Given the description of an element on the screen output the (x, y) to click on. 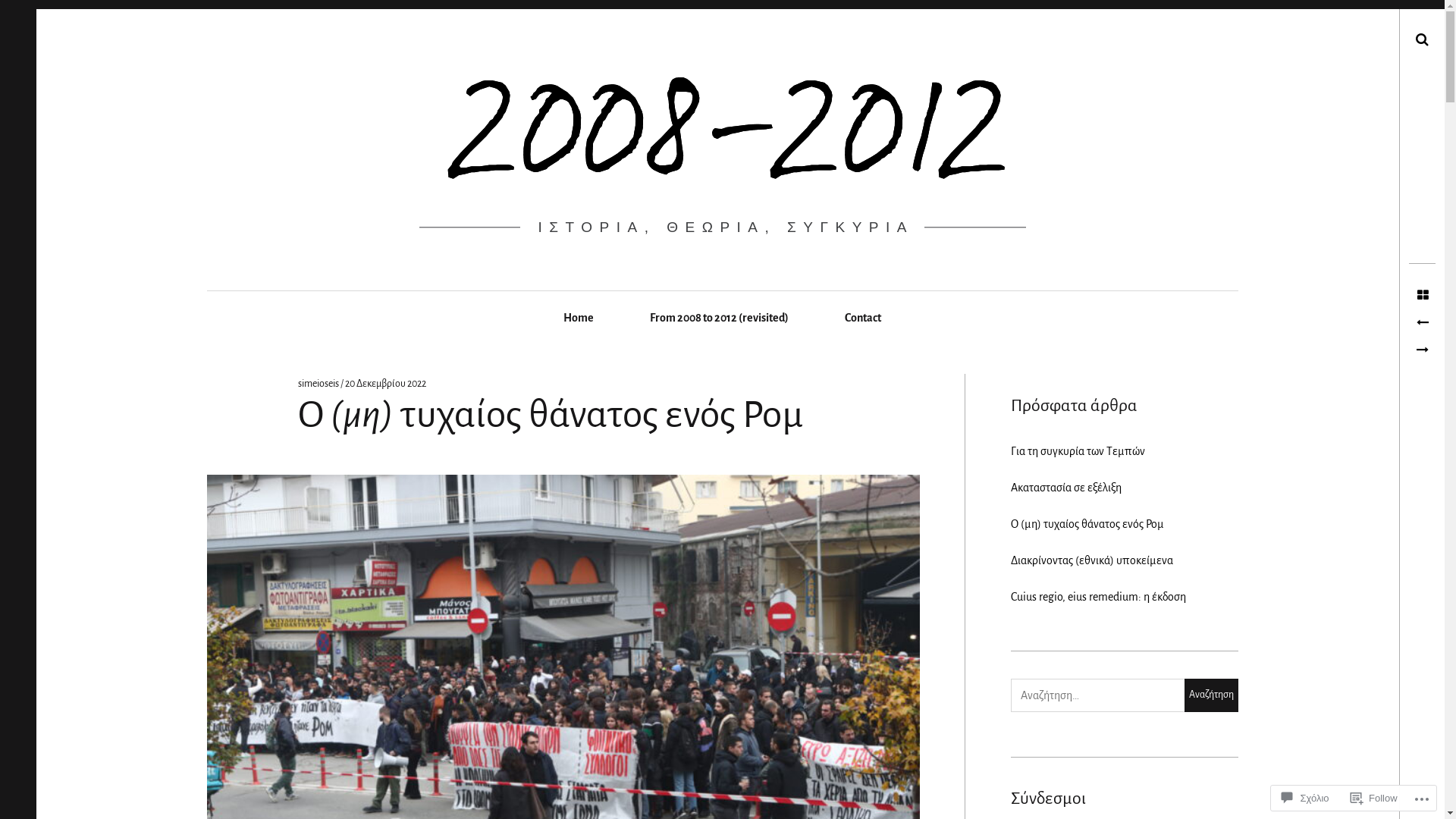
From 2008 to 2012 (revisited) Element type: text (718, 318)
Home Element type: text (578, 318)
Follow Element type: text (1373, 797)
Contact Element type: text (862, 318)
simeioseis Element type: text (318, 383)
